Given the description of an element on the screen output the (x, y) to click on. 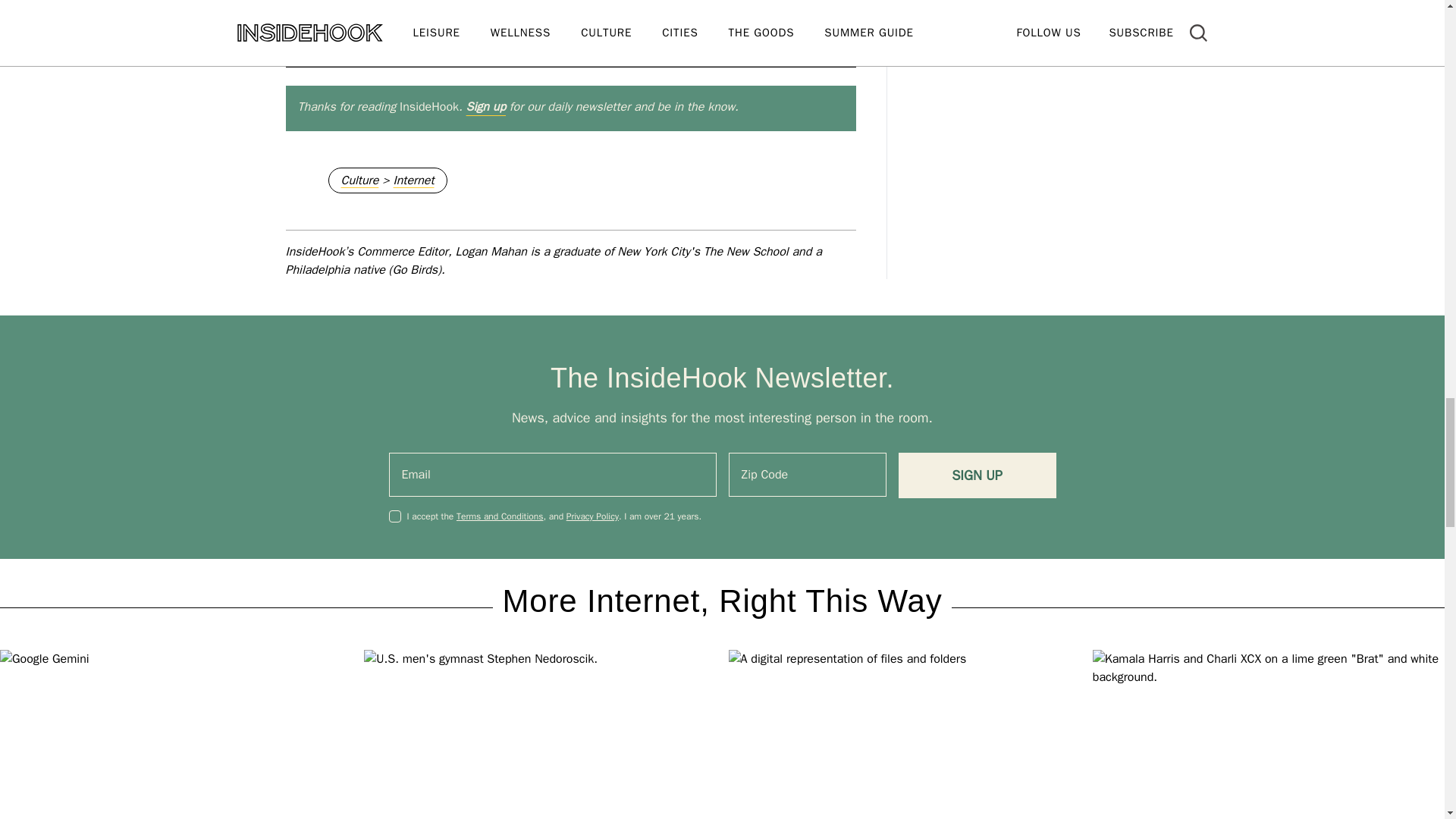
on (394, 516)
